Given the description of an element on the screen output the (x, y) to click on. 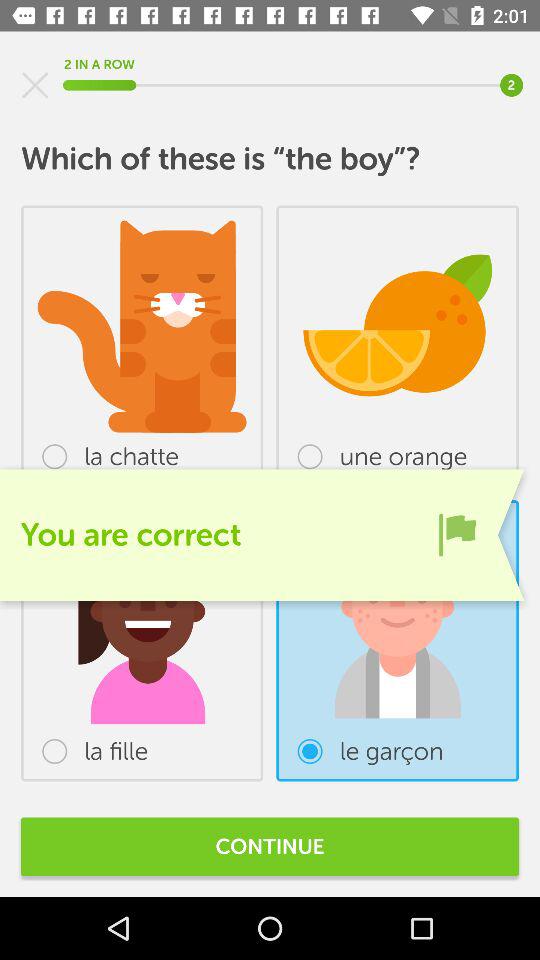
close screen (35, 85)
